Given the description of an element on the screen output the (x, y) to click on. 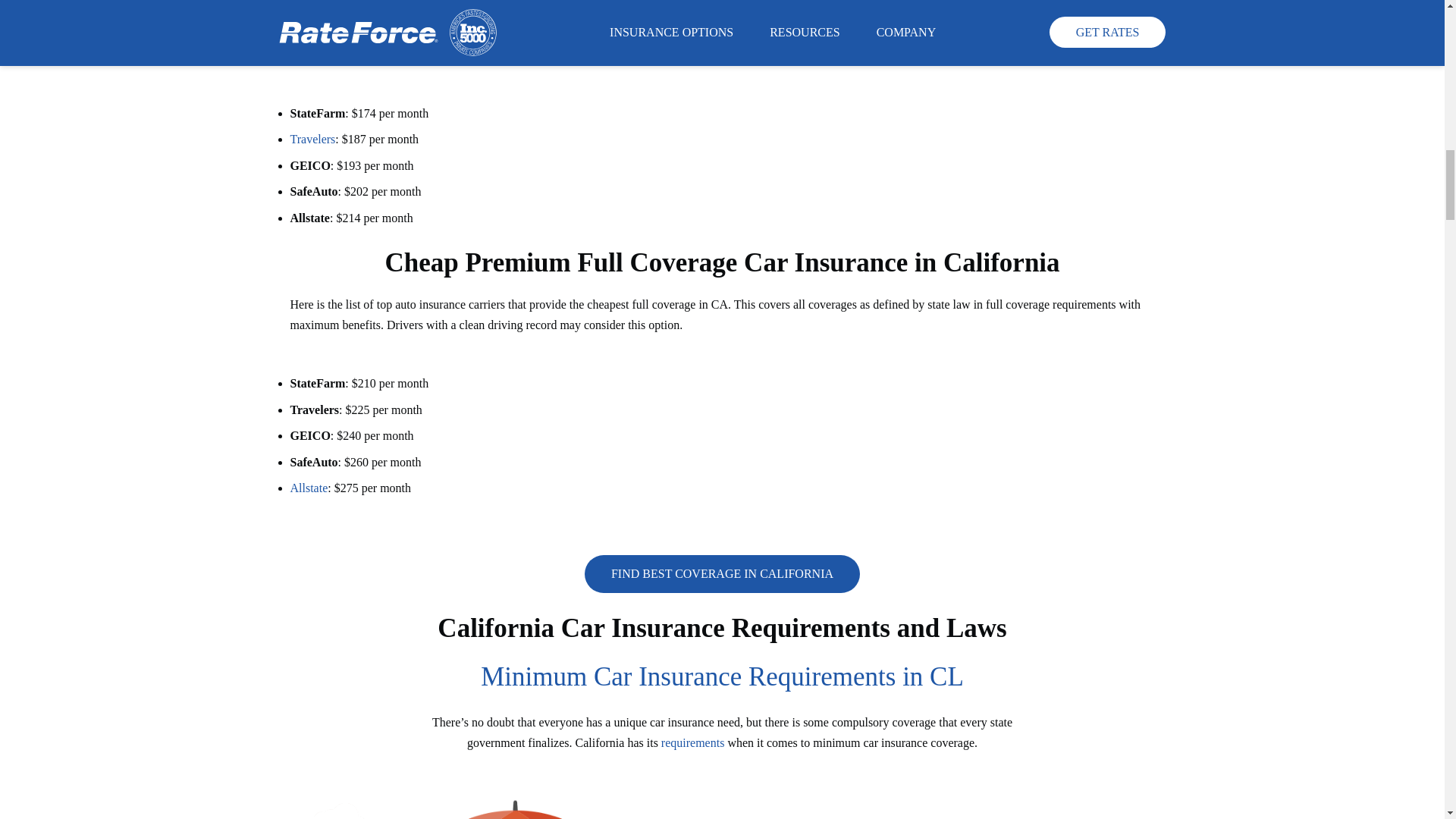
requirements (693, 742)
Compare and Find Best Coverage in California (722, 574)
FIND BEST COVERAGE IN CALIFORNIA (722, 574)
Travelers (311, 138)
Allstate (308, 487)
